Given the description of an element on the screen output the (x, y) to click on. 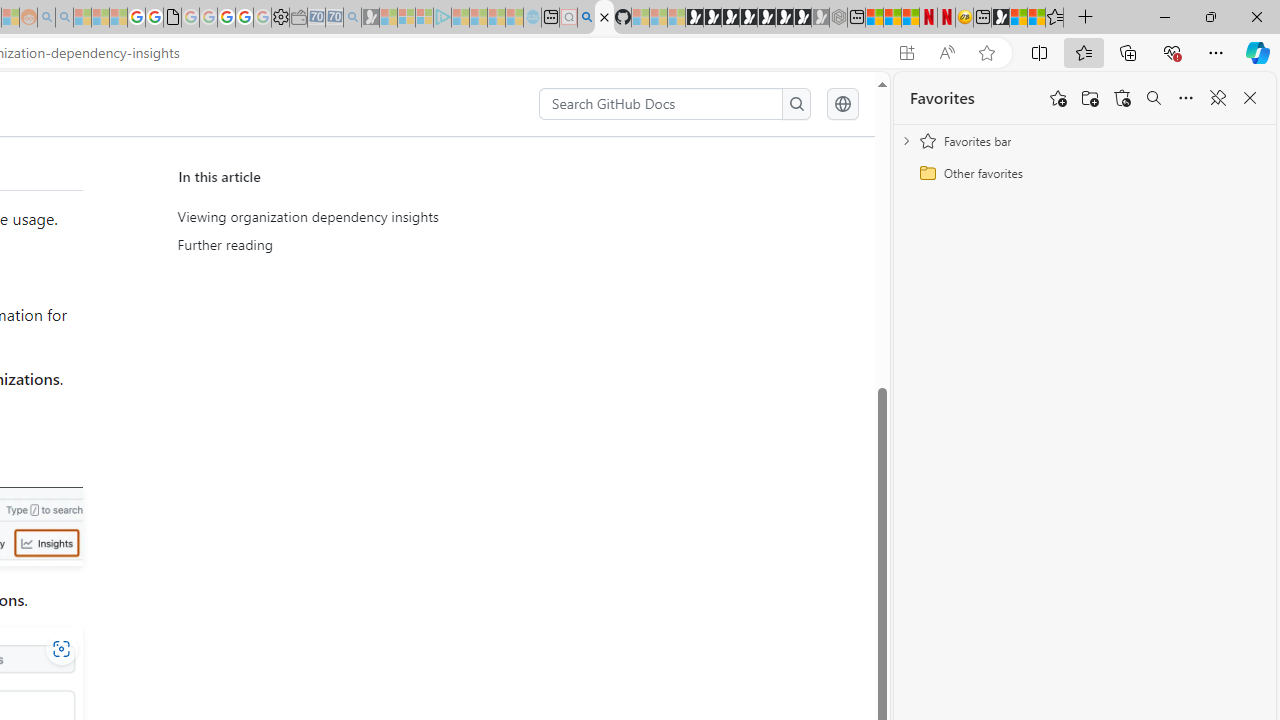
Add this page to favorites (1058, 98)
Further reading (362, 245)
